Given the description of an element on the screen output the (x, y) to click on. 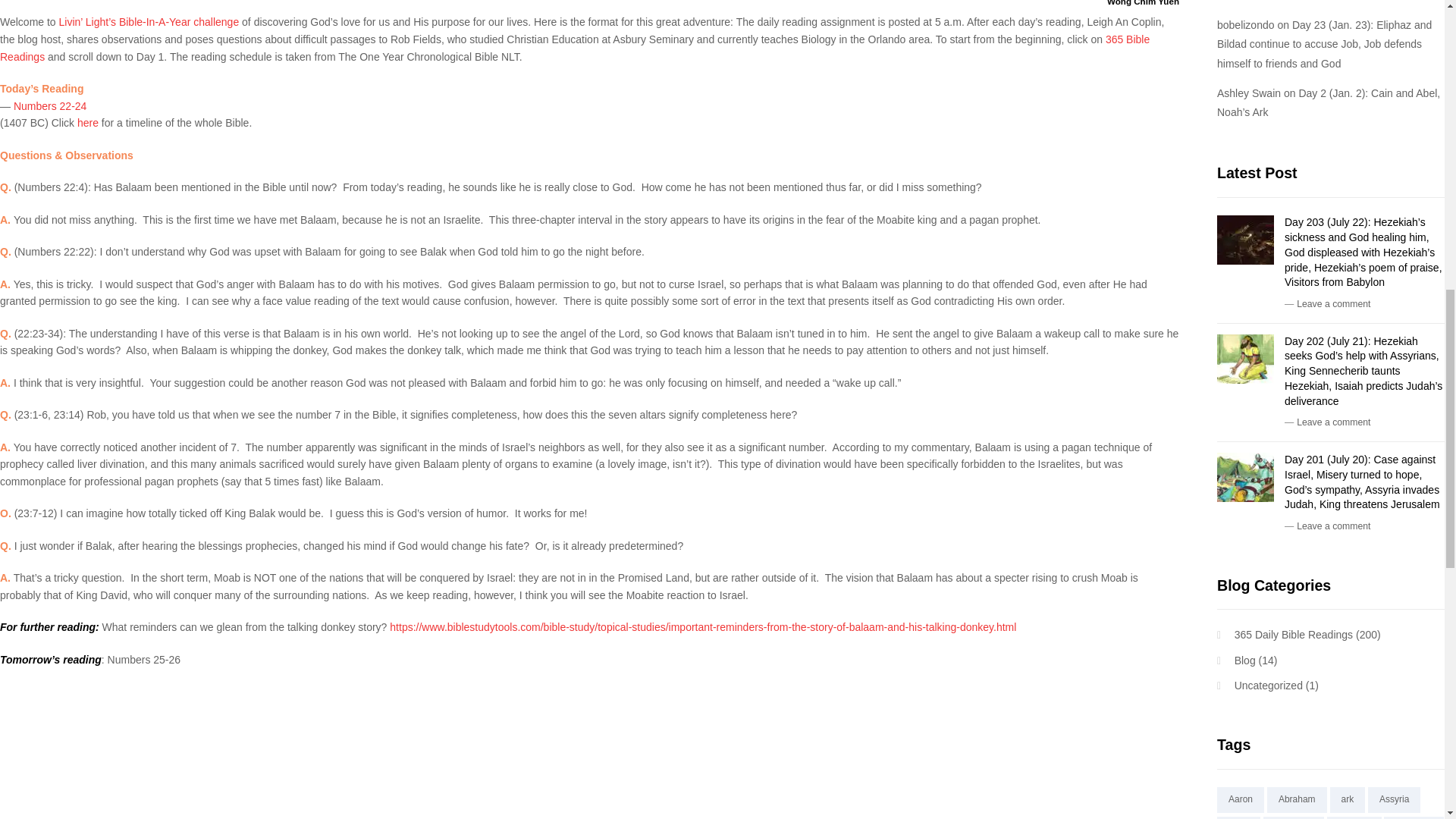
Leave a comment (1333, 303)
bobelizondo (1246, 24)
365 Bible Readings (575, 48)
Numbers 22-24 (50, 105)
Bob Elizondo (1248, 0)
here (88, 122)
